Given the description of an element on the screen output the (x, y) to click on. 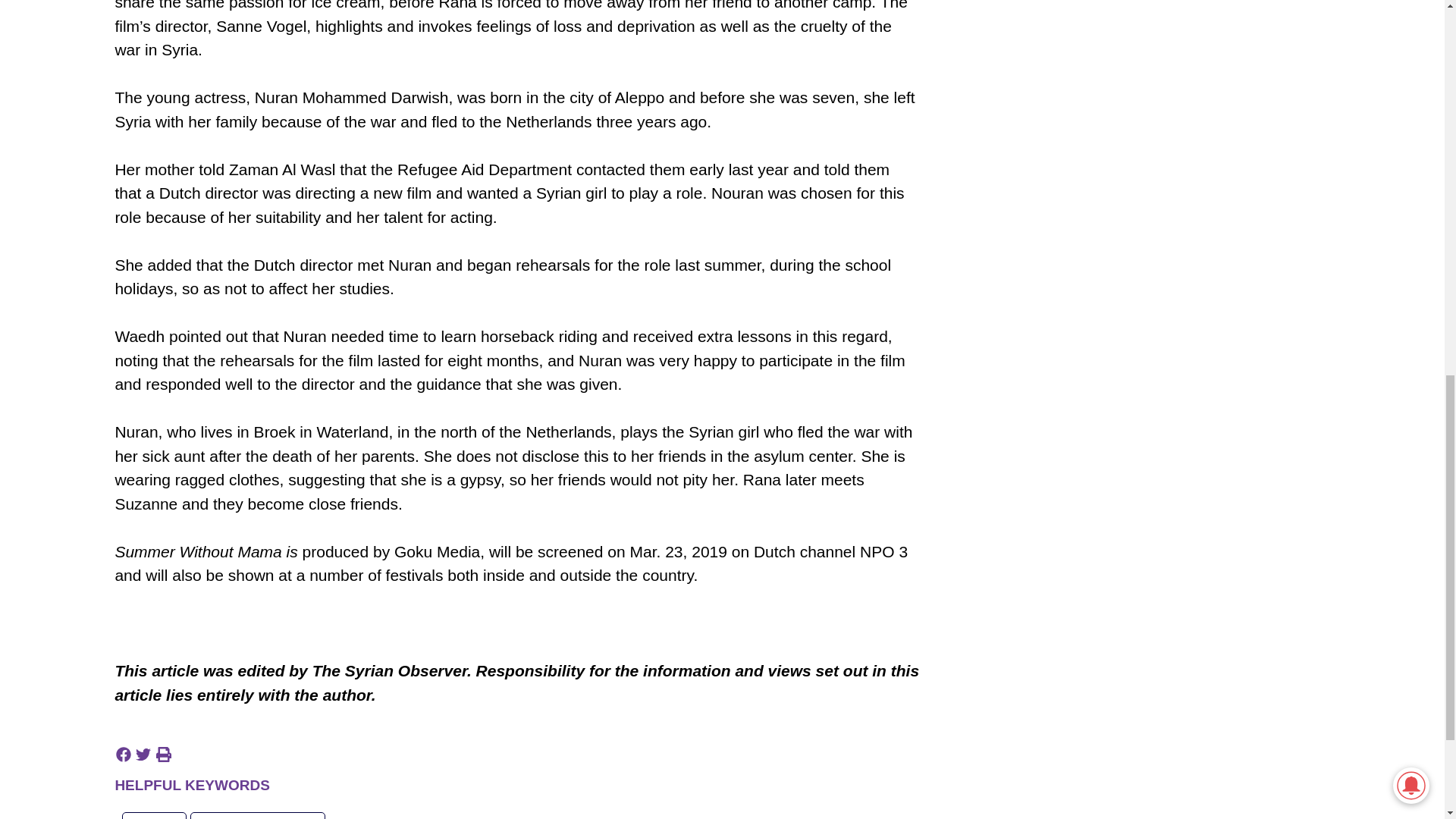
DUTCH (154, 815)
THE NETHERLANDS (257, 815)
